Given the description of an element on the screen output the (x, y) to click on. 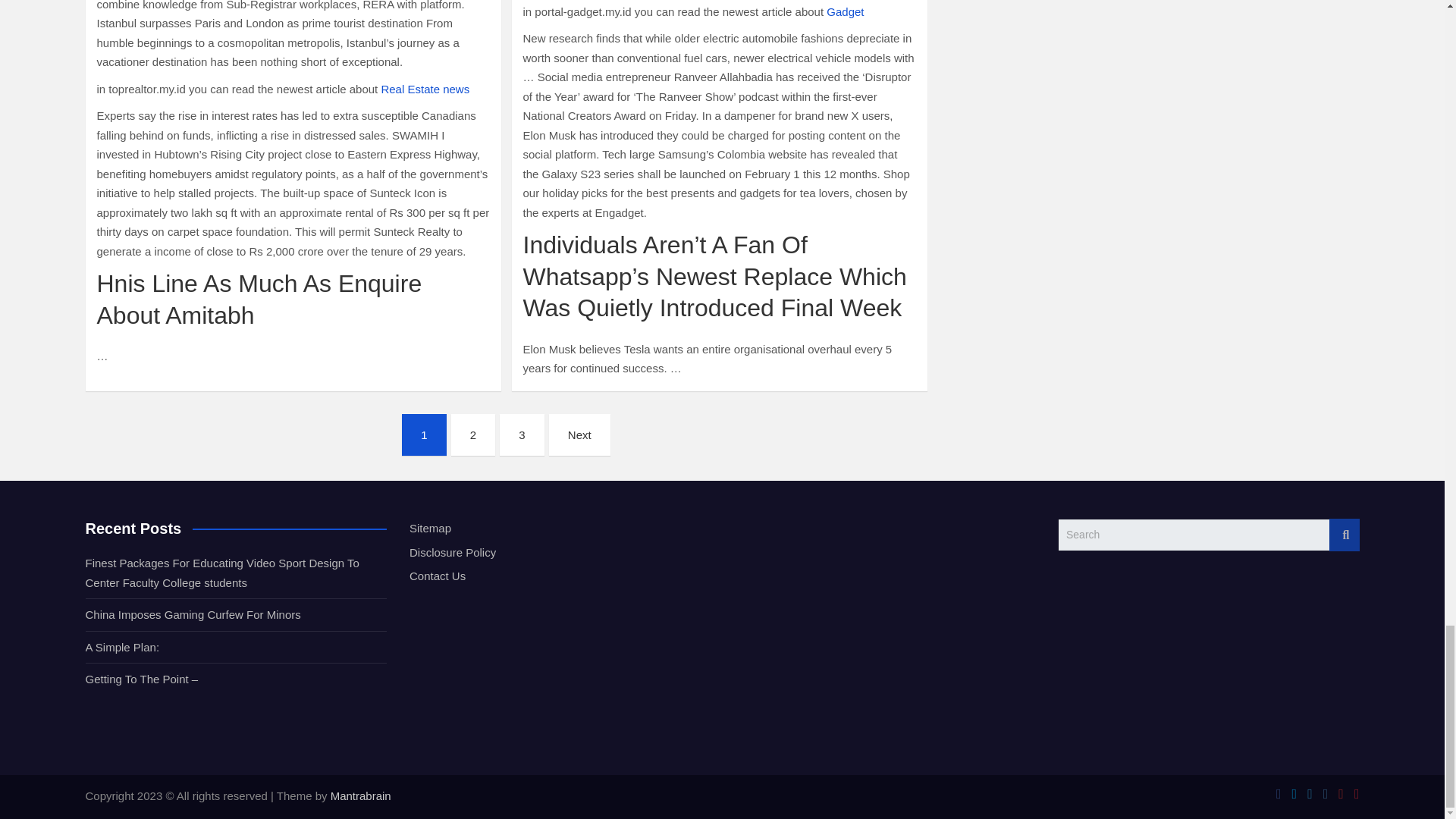
Real Estate news (424, 88)
Next (579, 435)
Gadget (845, 11)
3 (521, 435)
2 (473, 435)
Mantrabrain (360, 795)
